Given the description of an element on the screen output the (x, y) to click on. 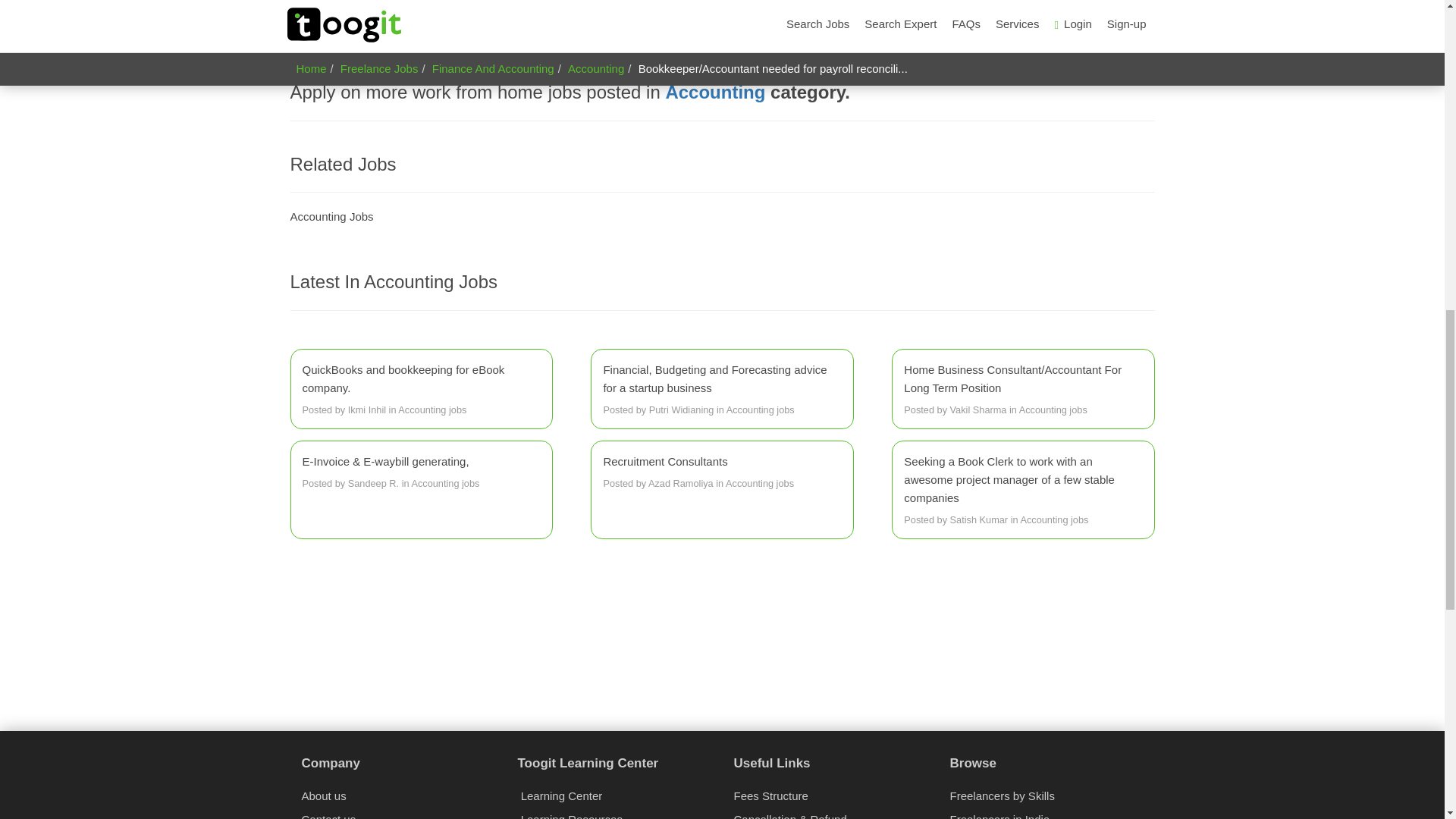
Search Accounting Jobs (330, 215)
See frequently asked questions (368, 9)
About us (323, 795)
Find More Accounting Remote Jobs (715, 91)
Accounting (715, 91)
In Accounting: Recruitment Consultants (721, 472)
Contact us (328, 816)
Accounting Jobs (330, 215)
Frequently asked questions (368, 9)
In Accounting: QuickBooks and bookkeeping for eBook company. (420, 389)
